Given the description of an element on the screen output the (x, y) to click on. 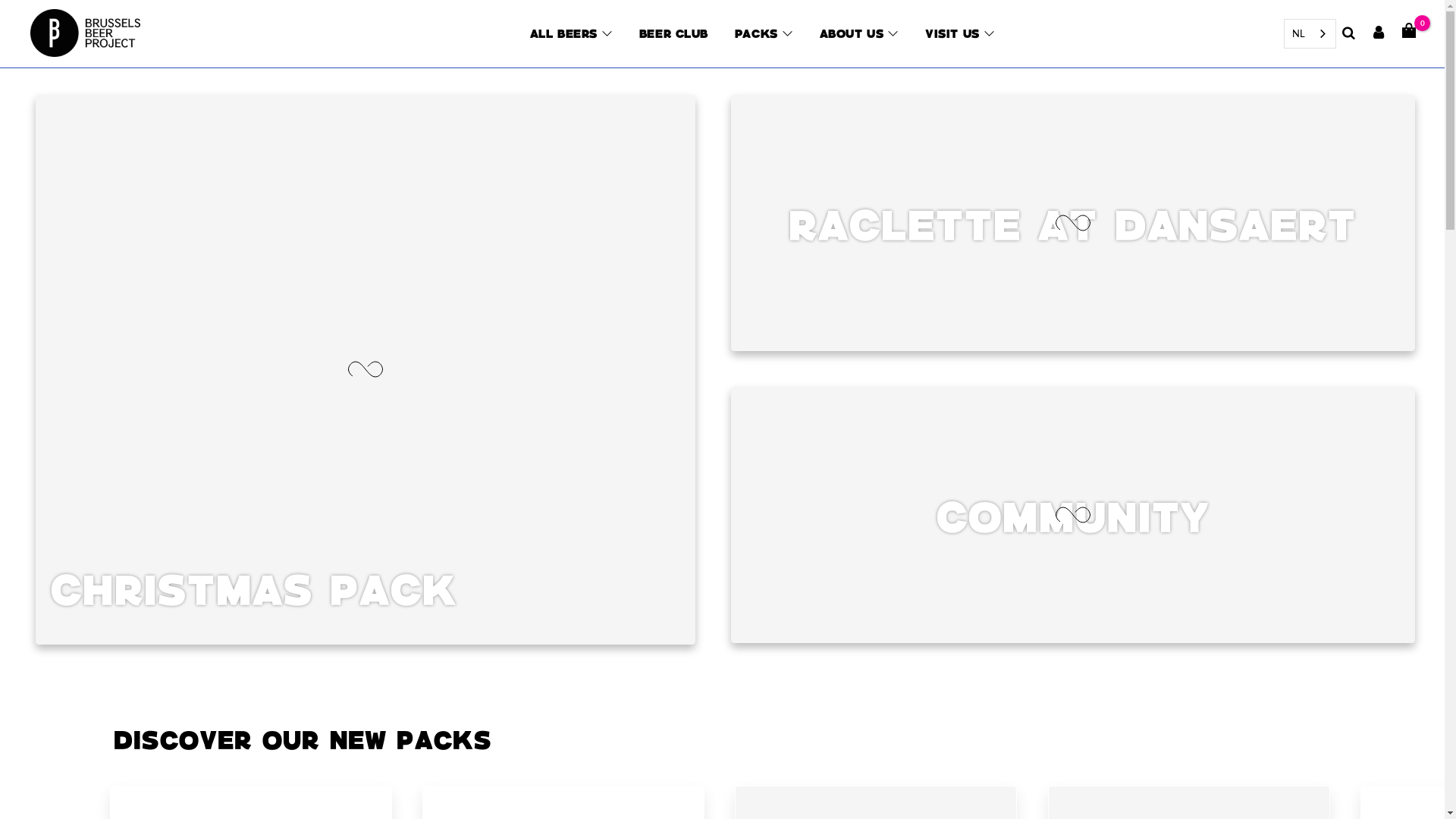
About us Element type: text (851, 32)
NL Element type: text (1309, 33)
0 Element type: text (1408, 31)
ALL BEERS Element type: text (563, 32)
VISIT US Element type: text (952, 32)
BEER CLUB Element type: text (673, 32)
Packs Element type: text (755, 32)
